Given the description of an element on the screen output the (x, y) to click on. 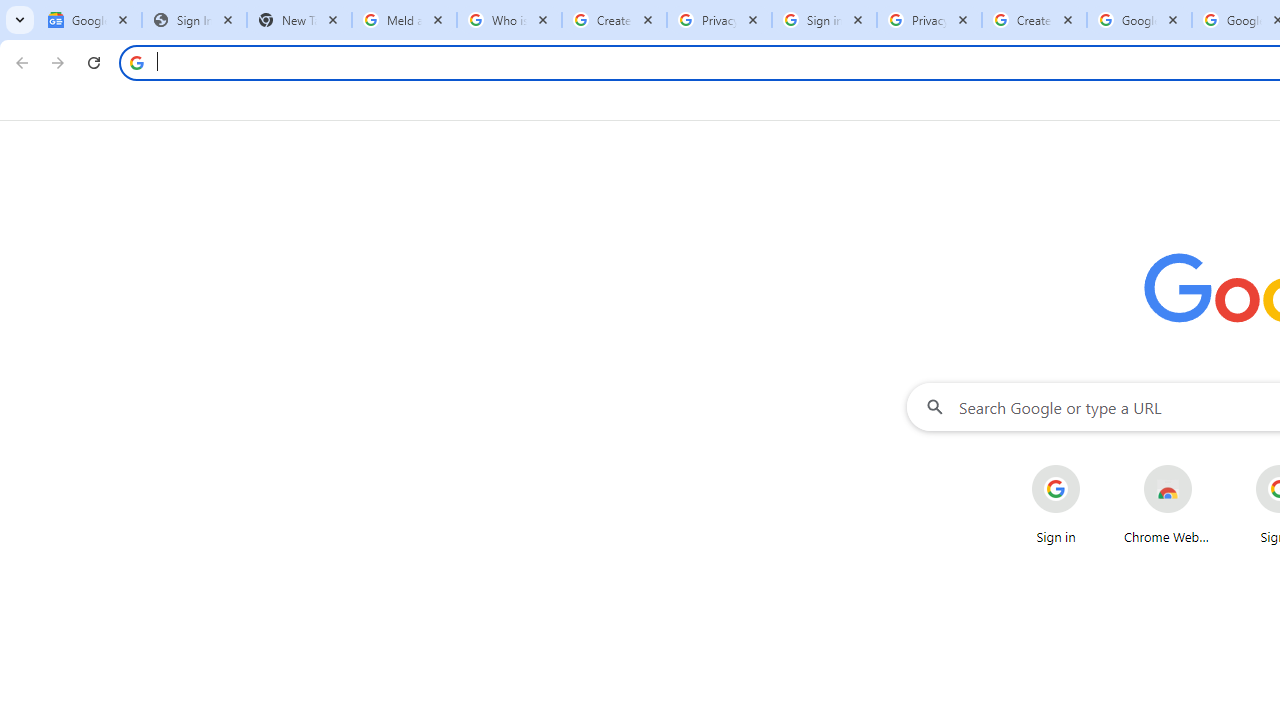
Create your Google Account (613, 20)
Chrome Web Store (1167, 504)
Sign in - Google Accounts (823, 20)
